Given the description of an element on the screen output the (x, y) to click on. 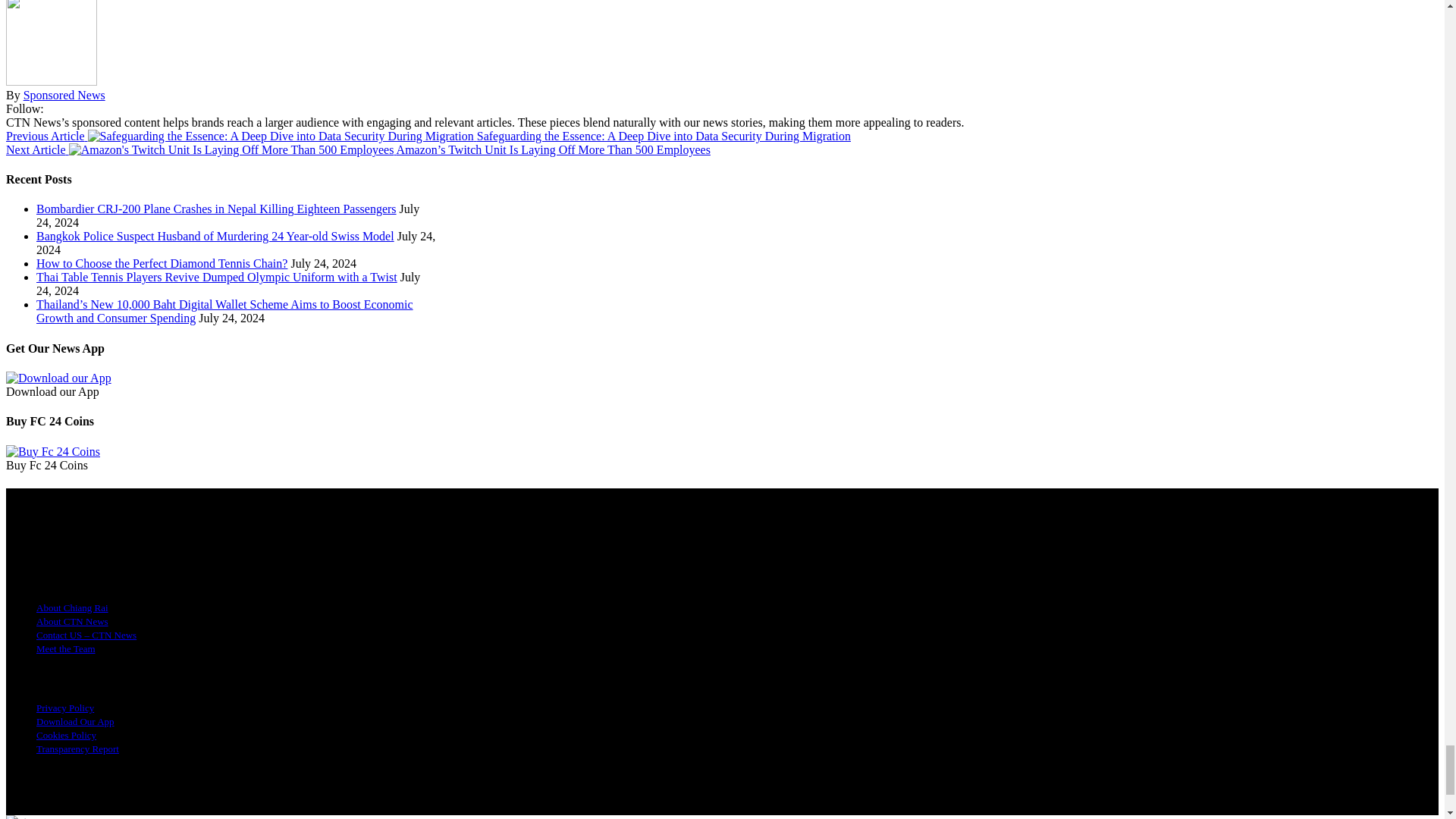
Buy FC24 Coins (52, 451)
Advertisement (58, 377)
